Given the description of an element on the screen output the (x, y) to click on. 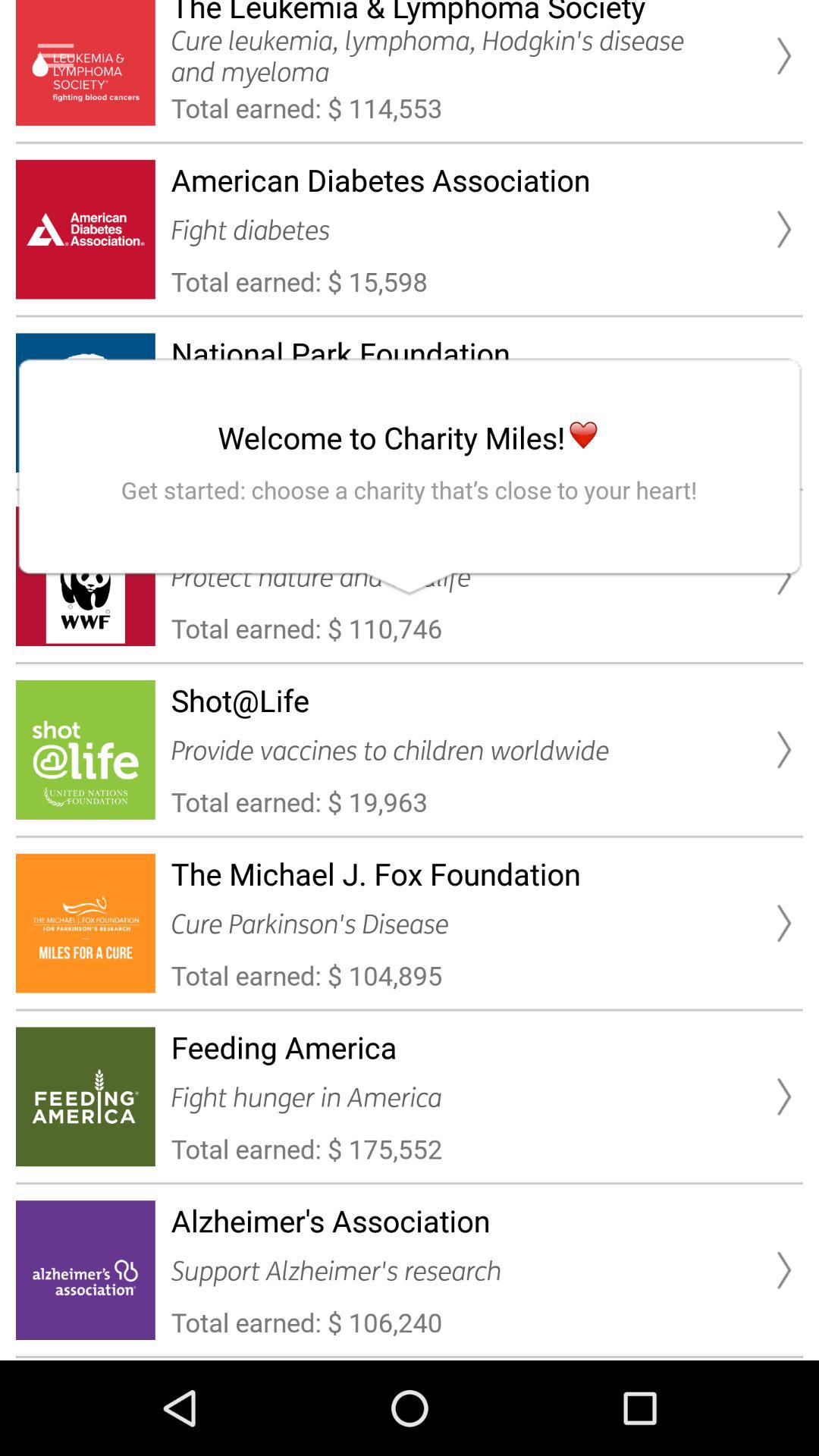
opens the charity campaign (55, 55)
